Given the description of an element on the screen output the (x, y) to click on. 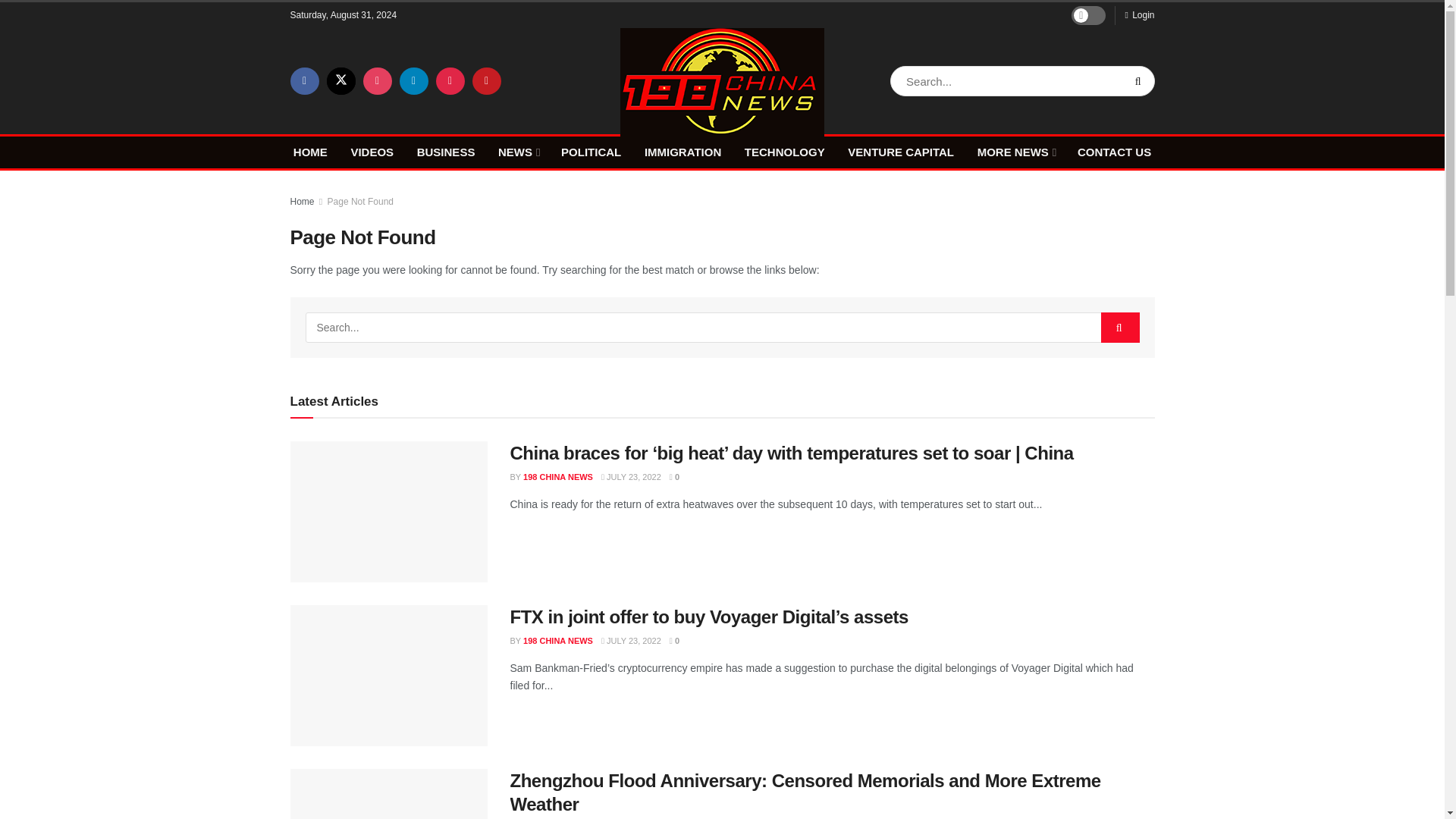
HOME (310, 151)
TECHNOLOGY (784, 151)
Login (1139, 14)
POLITICAL (590, 151)
VIDEOS (371, 151)
VENTURE CAPITAL (900, 151)
IMMIGRATION (682, 151)
BUSINESS (446, 151)
MORE NEWS (1015, 151)
NEWS (517, 151)
